Given the description of an element on the screen output the (x, y) to click on. 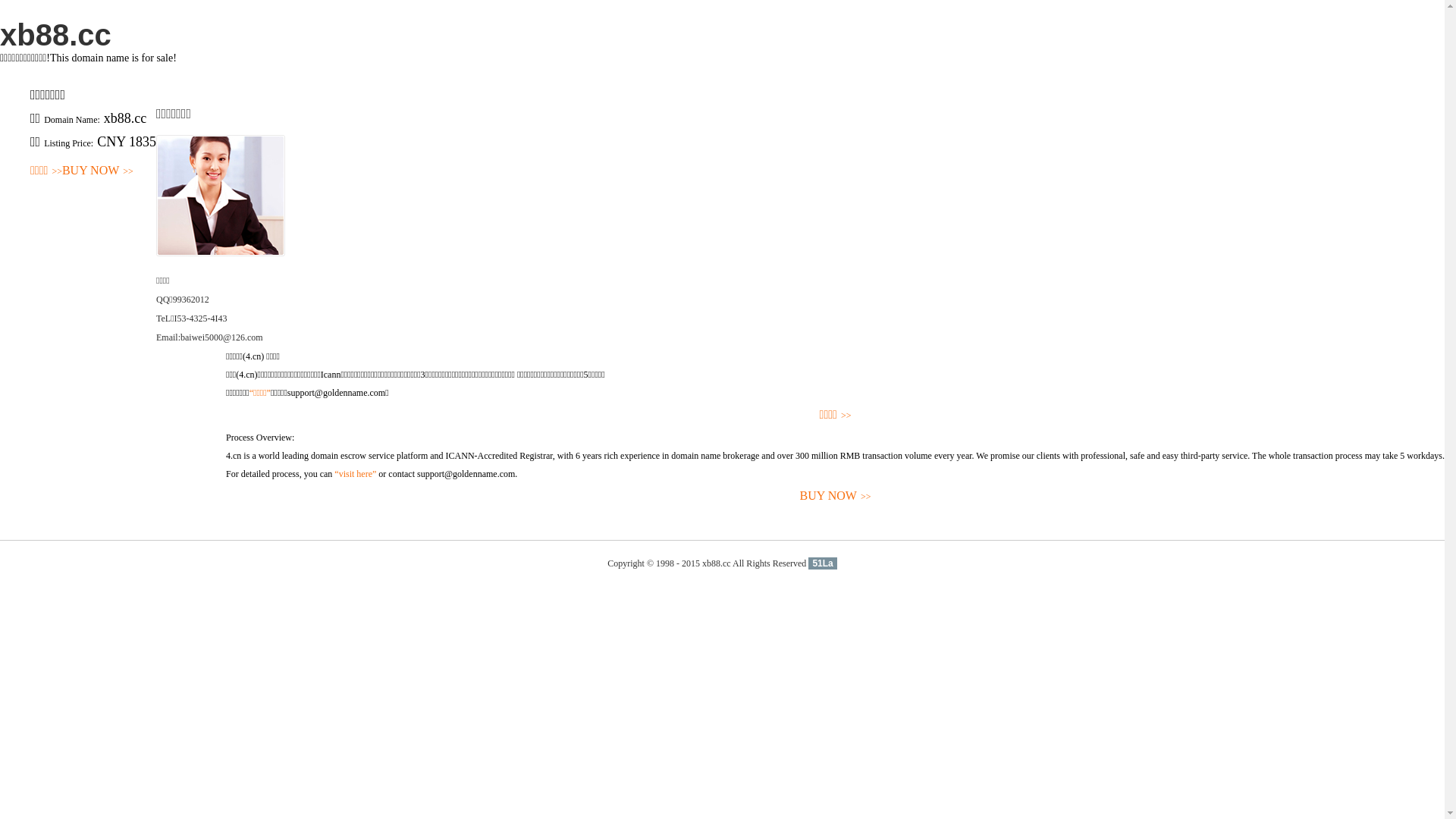
51La Element type: text (822, 563)
BUY NOW>> Element type: text (97, 170)
BUY NOW>> Element type: text (834, 496)
